Given the description of an element on the screen output the (x, y) to click on. 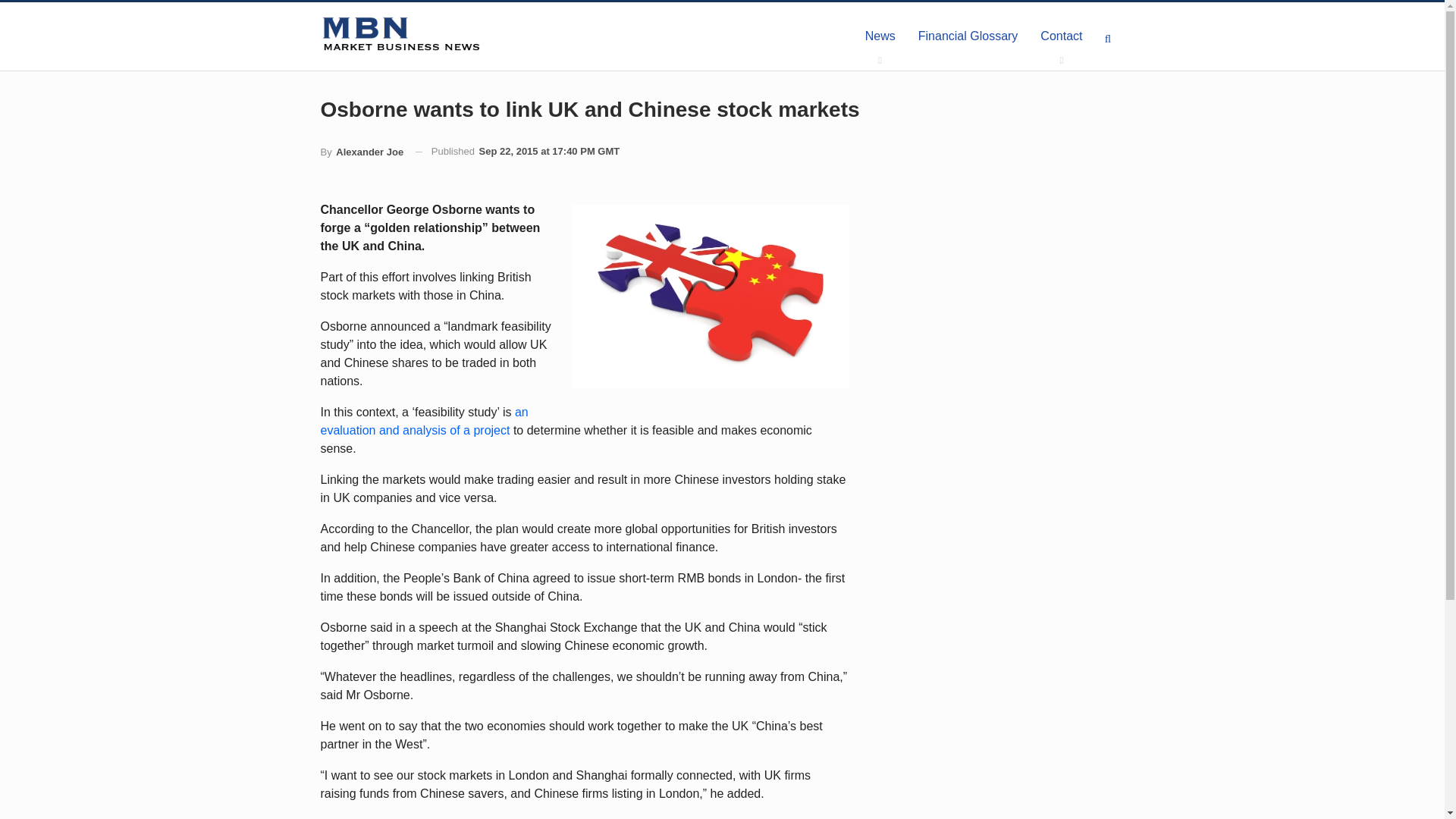
an evaluation and analysis of a project (423, 420)
Contact (1061, 36)
Financial Glossary (968, 36)
News (880, 36)
Browse Author Articles (361, 152)
By Alexander Joe (361, 152)
